Given the description of an element on the screen output the (x, y) to click on. 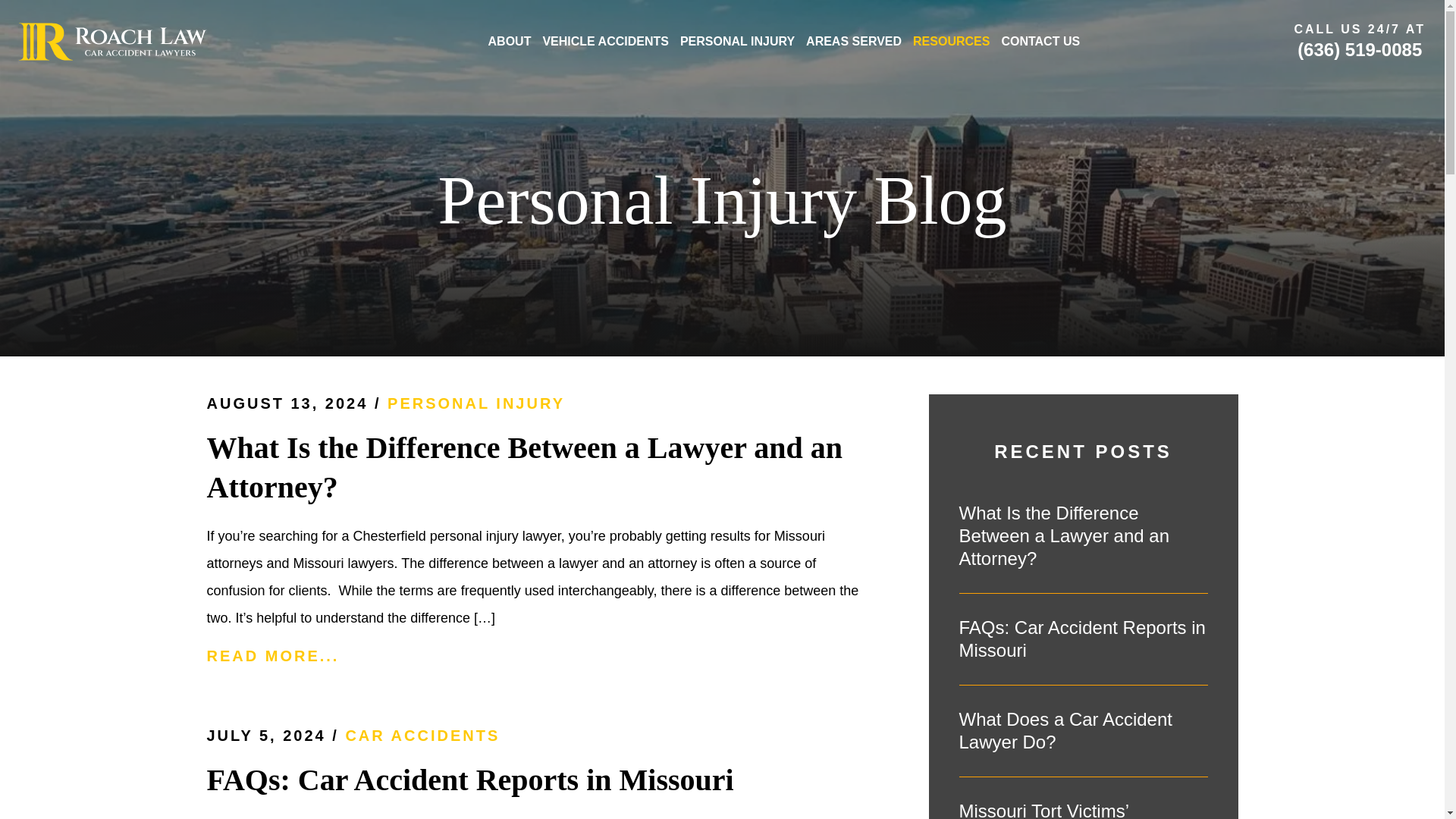
CAR ACCIDENTS (422, 735)
CONTACT US (1040, 41)
RESOURCES (951, 41)
PERSONAL INJURY (475, 402)
READ MORE... (541, 656)
AREAS SERVED (853, 41)
VEHICLE ACCIDENTS (604, 41)
What Is the Difference Between a Lawyer and an Attorney?  (1082, 536)
ABOUT (509, 41)
PERSONAL INJURY (736, 41)
